Given the description of an element on the screen output the (x, y) to click on. 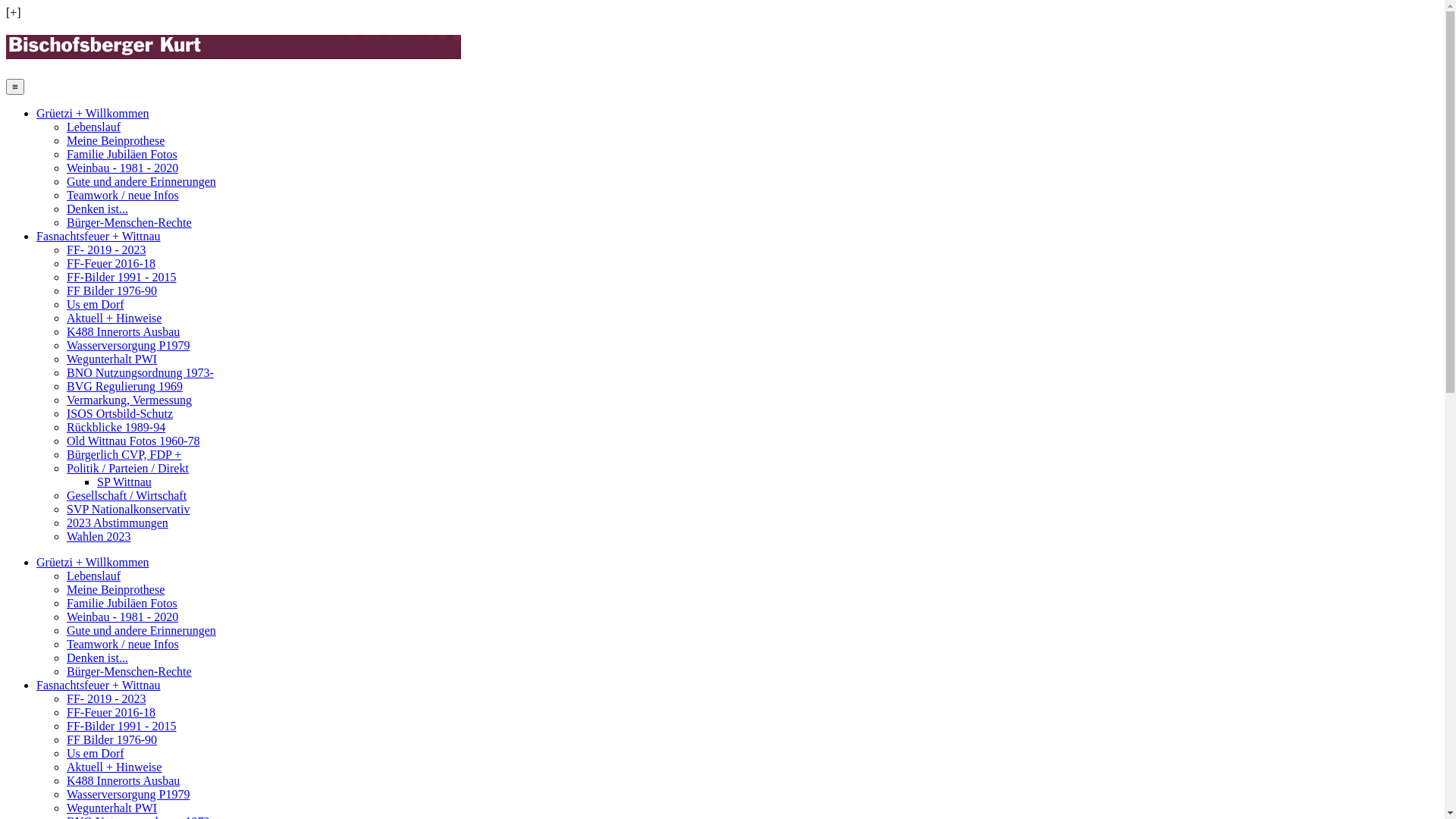
Wegunterhalt PWI Element type: text (111, 358)
Lebenslauf Element type: text (93, 126)
Aktuell + Hinweise Element type: text (113, 766)
Us em Dorf Element type: text (95, 304)
K488 Innerorts Ausbau Element type: text (122, 331)
Wegunterhalt PWI Element type: text (111, 807)
Teamwork / neue Infos Element type: text (122, 194)
Denken ist... Element type: text (97, 657)
Aktuell + Hinweise Element type: text (113, 317)
Politik / Parteien / Direkt Element type: text (127, 467)
ISOS Ortsbild-Schutz Element type: text (119, 413)
Meine Beinprothese Element type: text (115, 589)
Gute und andere Erinnerungen Element type: text (141, 181)
Gesellschaft / Wirtschaft Element type: text (126, 495)
Wasserversorgung P1979 Element type: text (127, 344)
K488 Innerorts Ausbau Element type: text (122, 780)
SP Wittnau Element type: text (124, 481)
FF Bilder 1976-90 Element type: text (111, 739)
Denken ist... Element type: text (97, 208)
FF-Feuer 2016-18 Element type: text (110, 263)
Fasnachtsfeuer + Wittnau Element type: text (98, 684)
Lebenslauf Element type: text (93, 575)
Wasserversorgung P1979 Element type: text (127, 793)
Meine Beinprothese Element type: text (115, 140)
Us em Dorf Element type: text (95, 752)
Wahlen 2023 Element type: text (98, 536)
Fasnachtsfeuer + Wittnau Element type: text (98, 235)
BVG Regulierung 1969 Element type: text (124, 385)
FF-Bilder 1991 - 2015 Element type: text (120, 276)
Gute und andere Erinnerungen Element type: text (141, 630)
Vermarkung, Vermessung Element type: text (128, 399)
Teamwork / neue Infos Element type: text (122, 643)
FF- 2019 - 2023 Element type: text (105, 249)
BNO Nutzungsordnung 1973- Element type: text (139, 372)
FF Bilder 1976-90 Element type: text (111, 290)
FF-Feuer 2016-18 Element type: text (110, 712)
Old Wittnau Fotos 1960-78 Element type: text (133, 440)
Weinbau - 1981 - 2020 Element type: text (122, 616)
Weinbau - 1981 - 2020 Element type: text (122, 167)
FF-Bilder 1991 - 2015 Element type: text (120, 725)
SVP Nationalkonservativ Element type: text (128, 508)
FF- 2019 - 2023 Element type: text (105, 698)
2023 Abstimmungen Element type: text (117, 522)
